Given the description of an element on the screen output the (x, y) to click on. 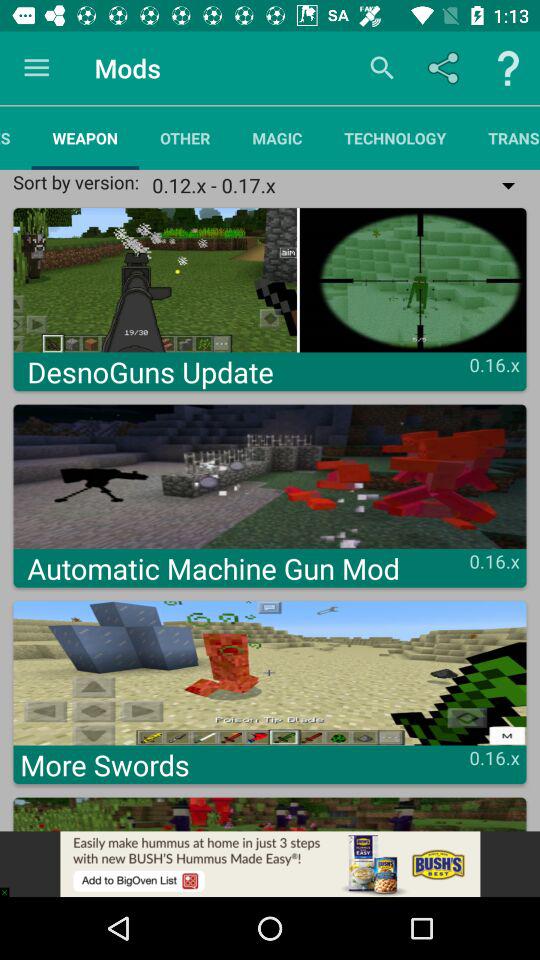
tap app above resources app (36, 68)
